Given the description of an element on the screen output the (x, y) to click on. 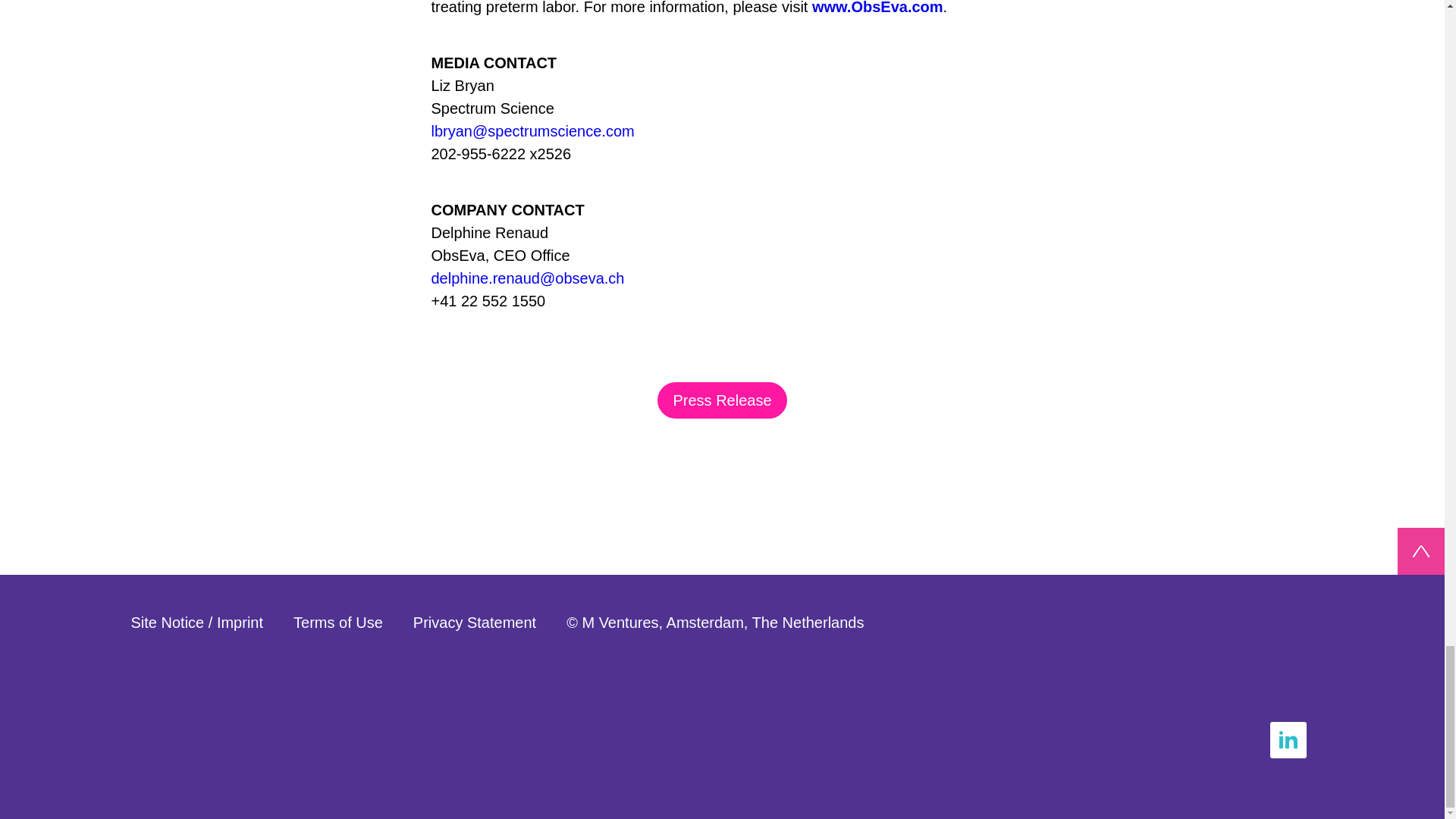
Press Release (722, 400)
Terms of Use (338, 622)
www.ObsEva.com (877, 7)
Privacy Statement (474, 622)
M Ventures on LinkedIn (1287, 752)
